Given the description of an element on the screen output the (x, y) to click on. 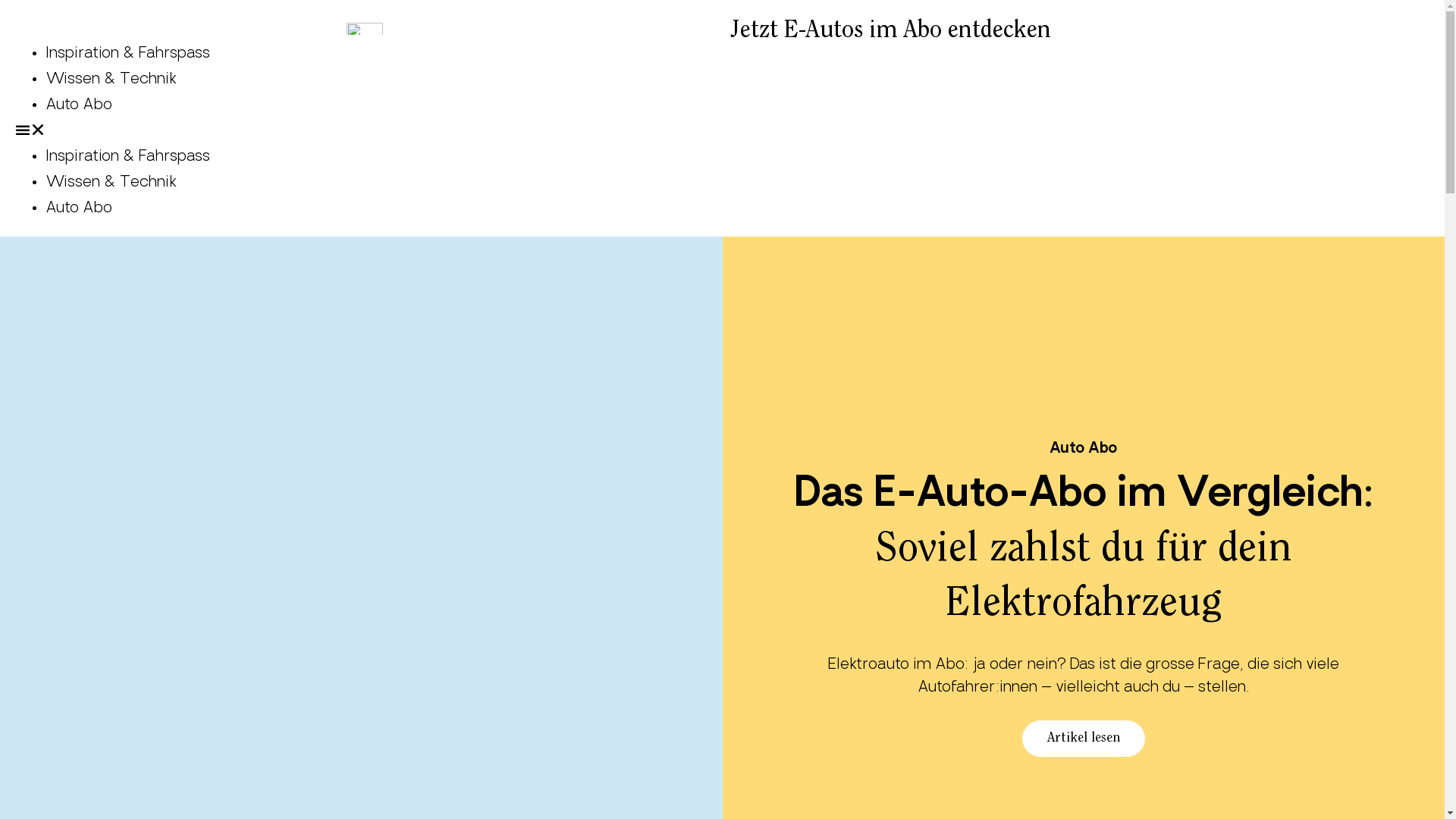
Jetzt E-Autos im Abo entdecken Element type: text (889, 30)
Auto Abo Element type: text (78, 208)
Inspiration & Fahrspass Element type: text (127, 156)
Artikel lesen Element type: text (1083, 738)
Wissen & Technik Element type: text (111, 182)
Inspiration & Fahrspass Element type: text (127, 53)
Wissen & Technik Element type: text (111, 79)
Auto Abo Element type: text (1083, 448)
Auto Abo Element type: text (78, 104)
